Given the description of an element on the screen output the (x, y) to click on. 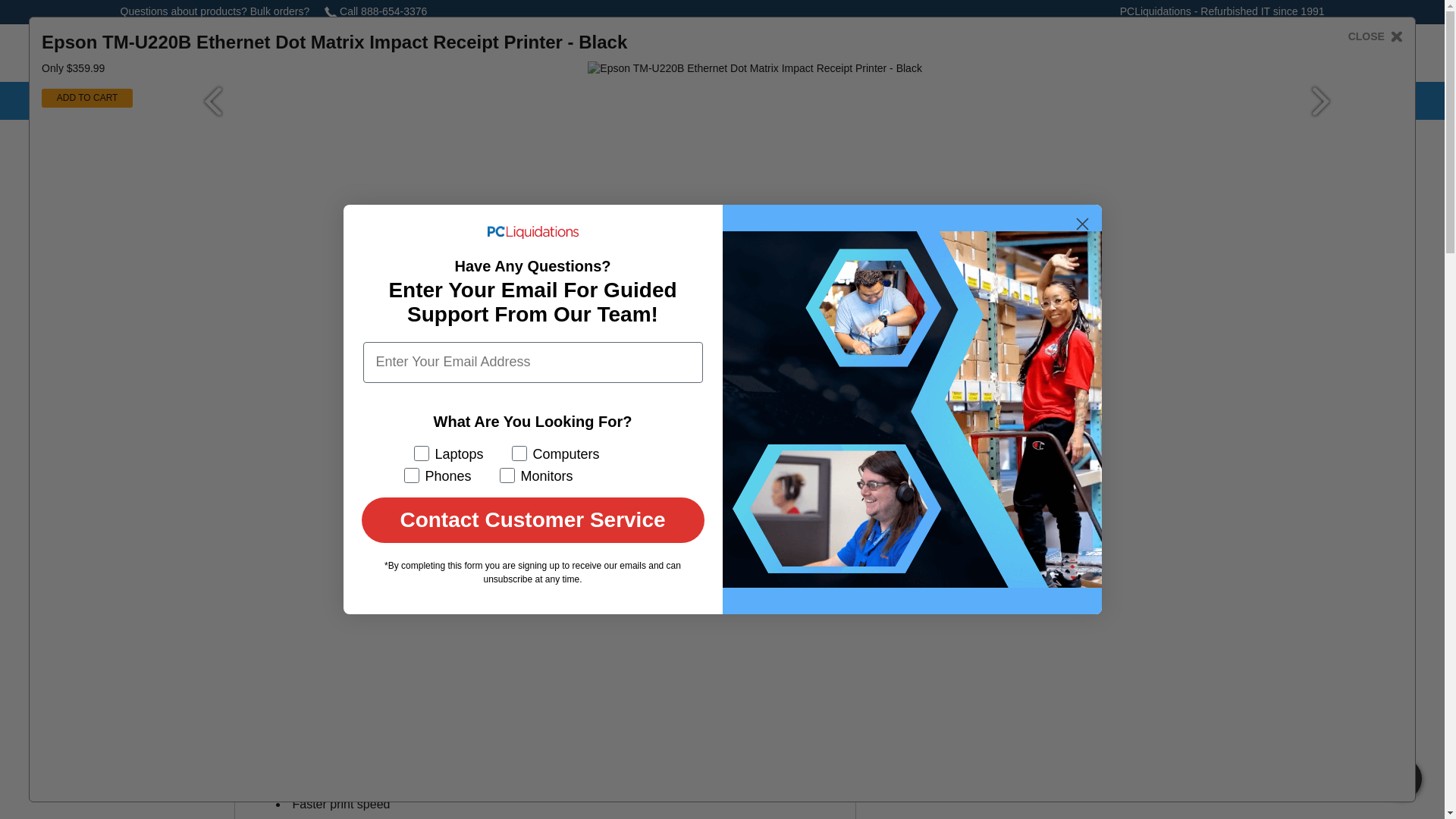
Laptops, Notebooks (263, 101)
My Cart (1243, 53)
COMPUTERS (159, 101)
Deals and Specials (567, 101)
PHONES (482, 101)
Close dialog 1 (1082, 223)
Refurbishment Process (811, 101)
Computers, PCs, Desktops, Towers (159, 101)
Call Toll Free (891, 53)
DEALS (567, 101)
LAPTOPS (263, 101)
Business Phone Systems (675, 101)
Call 888-654-3376 (375, 10)
Refurbished IT since 1991 (1261, 10)
LCD Monitors (374, 101)
